Given the description of an element on the screen output the (x, y) to click on. 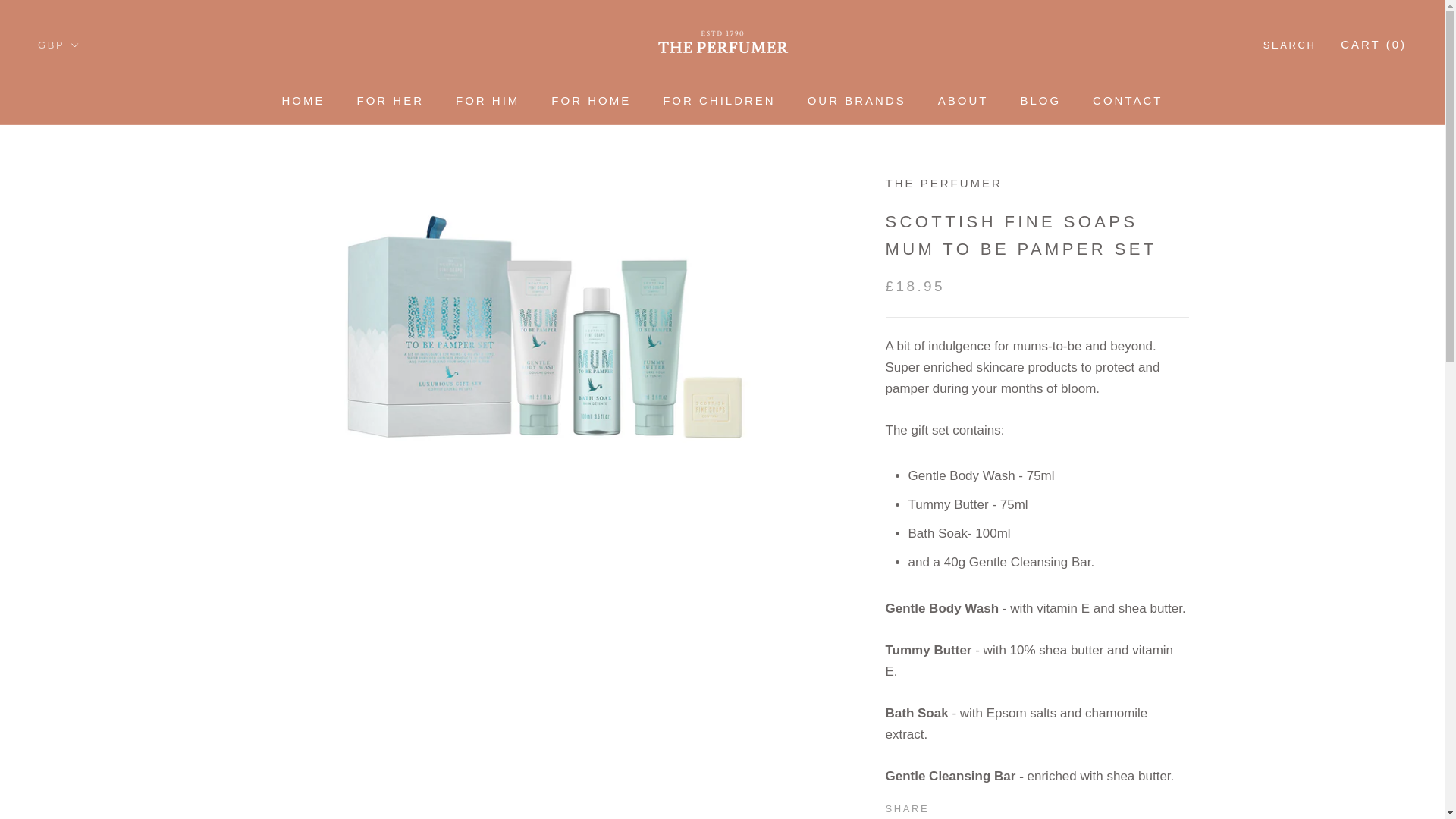
Currency selector (58, 44)
